Given the description of an element on the screen output the (x, y) to click on. 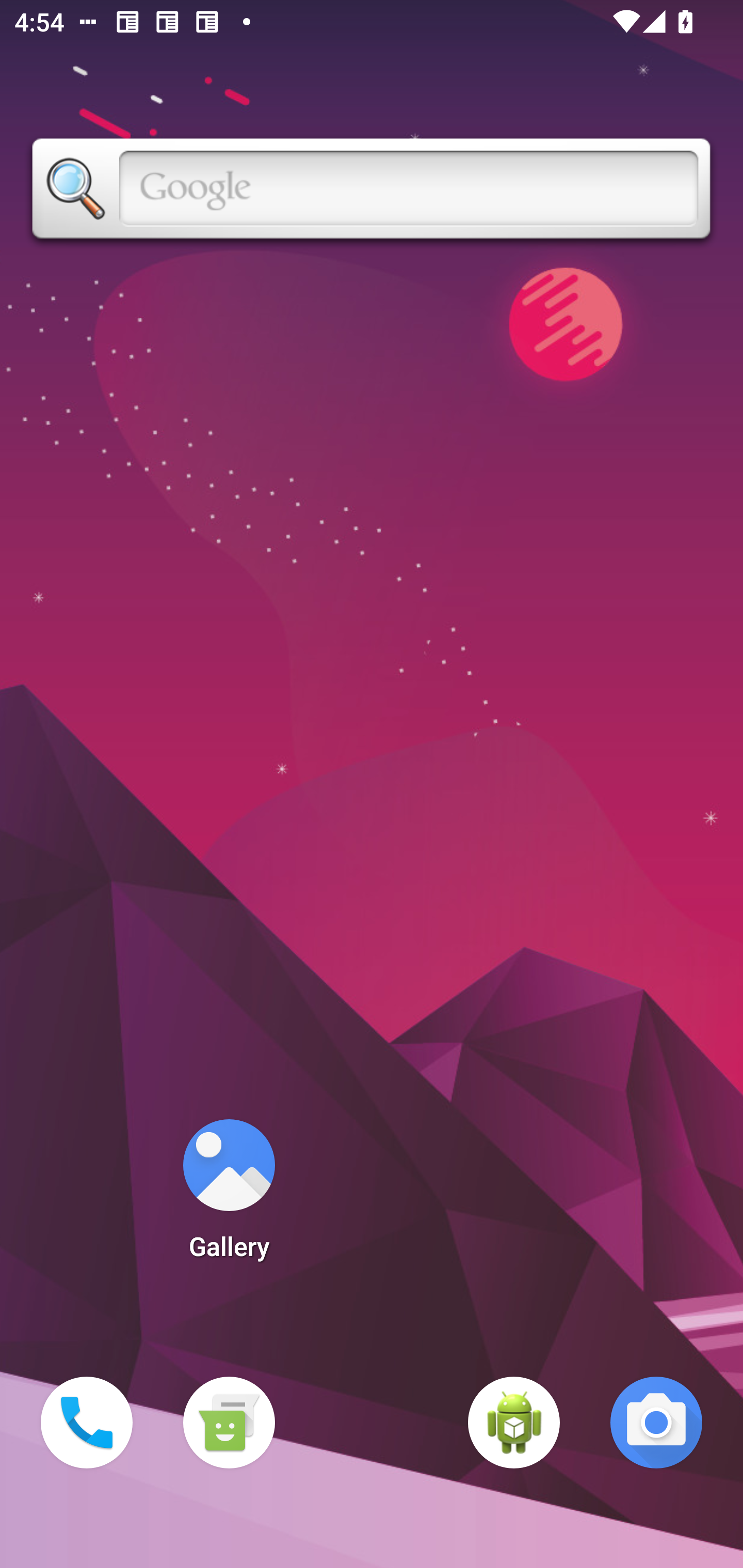
Gallery (228, 1195)
Phone (86, 1422)
Messaging (228, 1422)
WebView Browser Tester (513, 1422)
Camera (656, 1422)
